Given the description of an element on the screen output the (x, y) to click on. 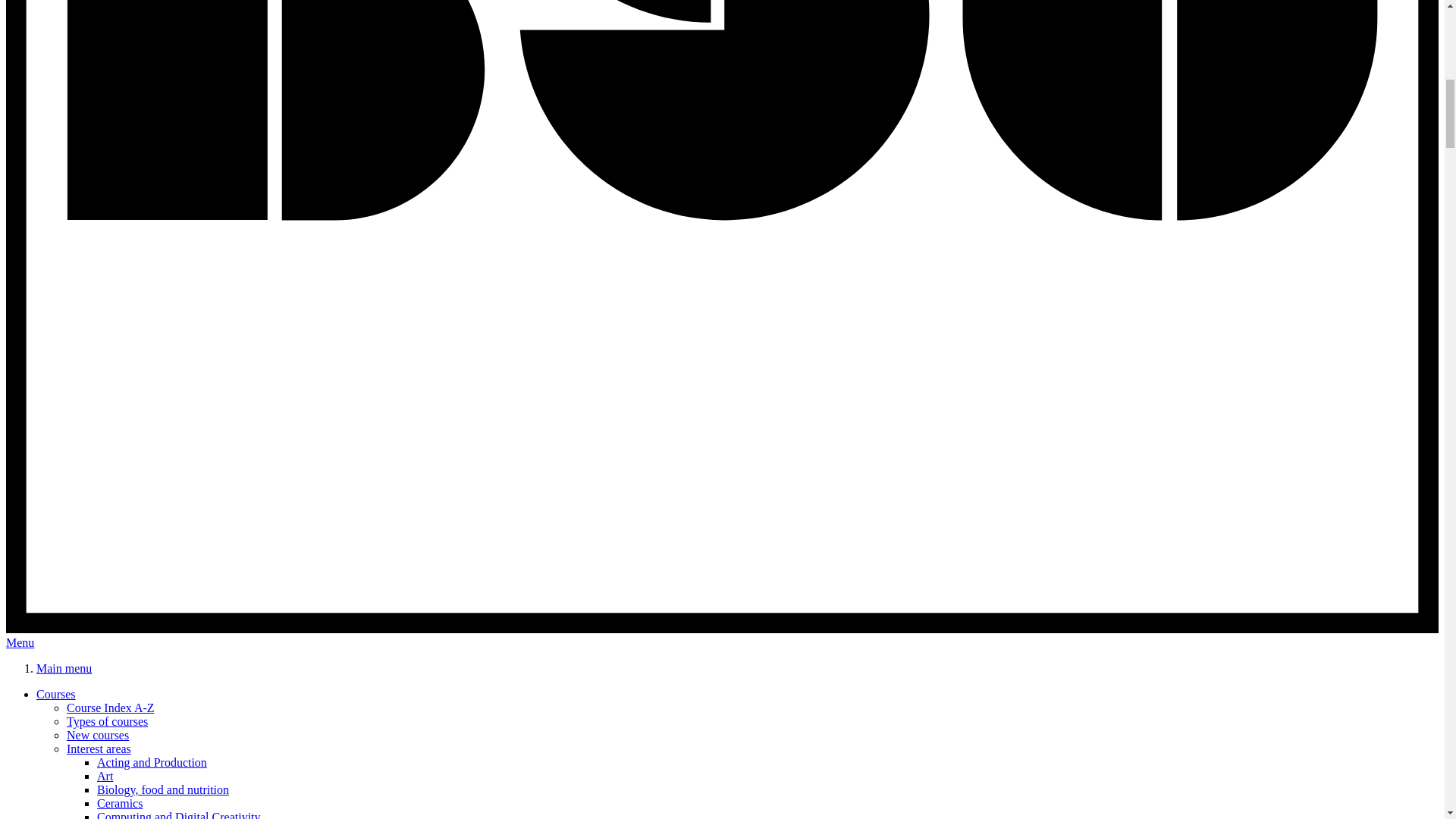
Biology, food and nutrition (162, 789)
Ceramics (119, 802)
Interest areas (98, 748)
Computing and Digital Creativity (178, 814)
Types of courses (107, 721)
Menu (19, 642)
Courses (55, 694)
Acting and Production (151, 762)
Main menu (63, 667)
New courses (97, 735)
Course Index A-Z (110, 707)
Art (105, 775)
